Given the description of an element on the screen output the (x, y) to click on. 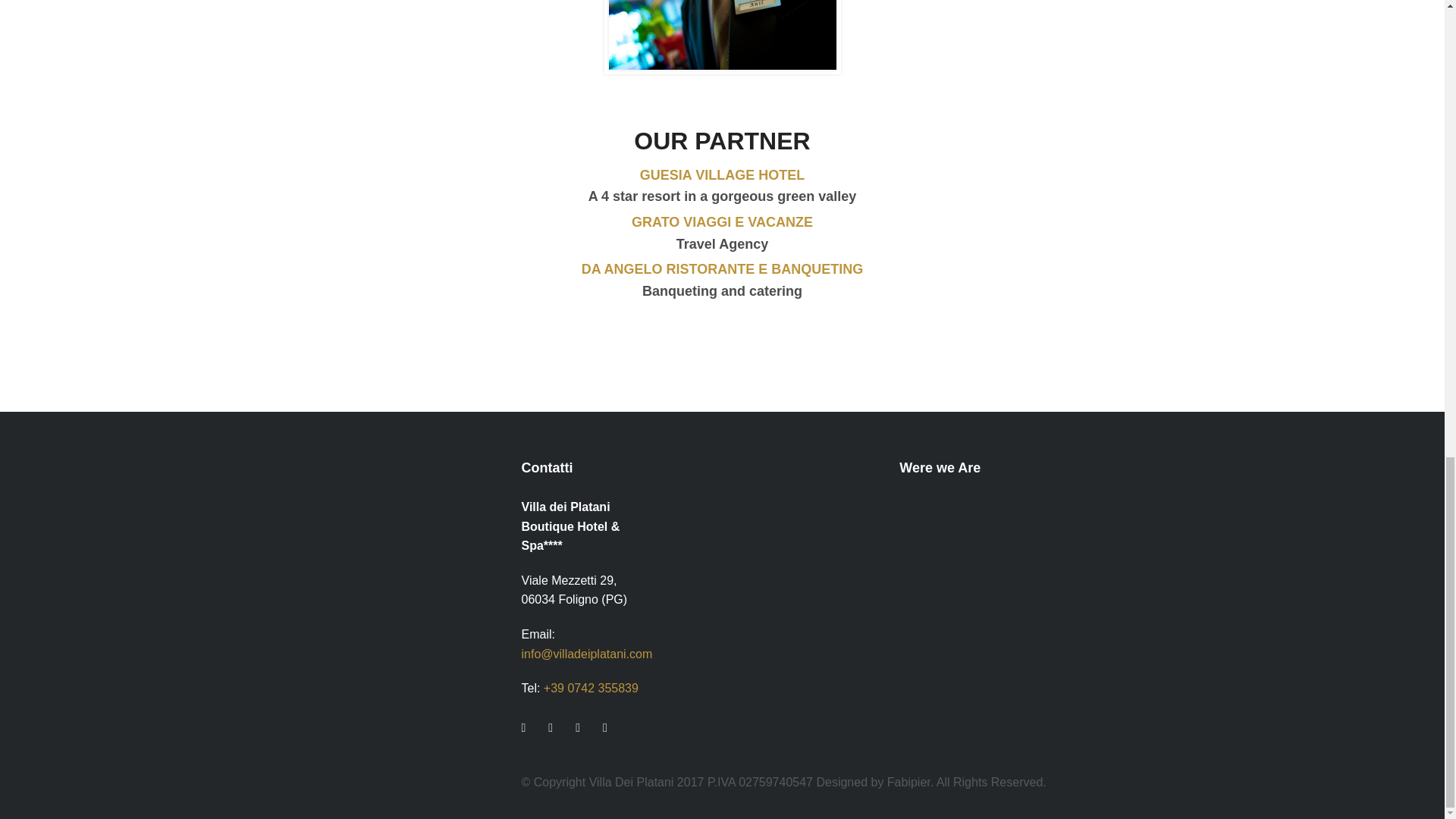
anil hd (721, 34)
